Given the description of an element on the screen output the (x, y) to click on. 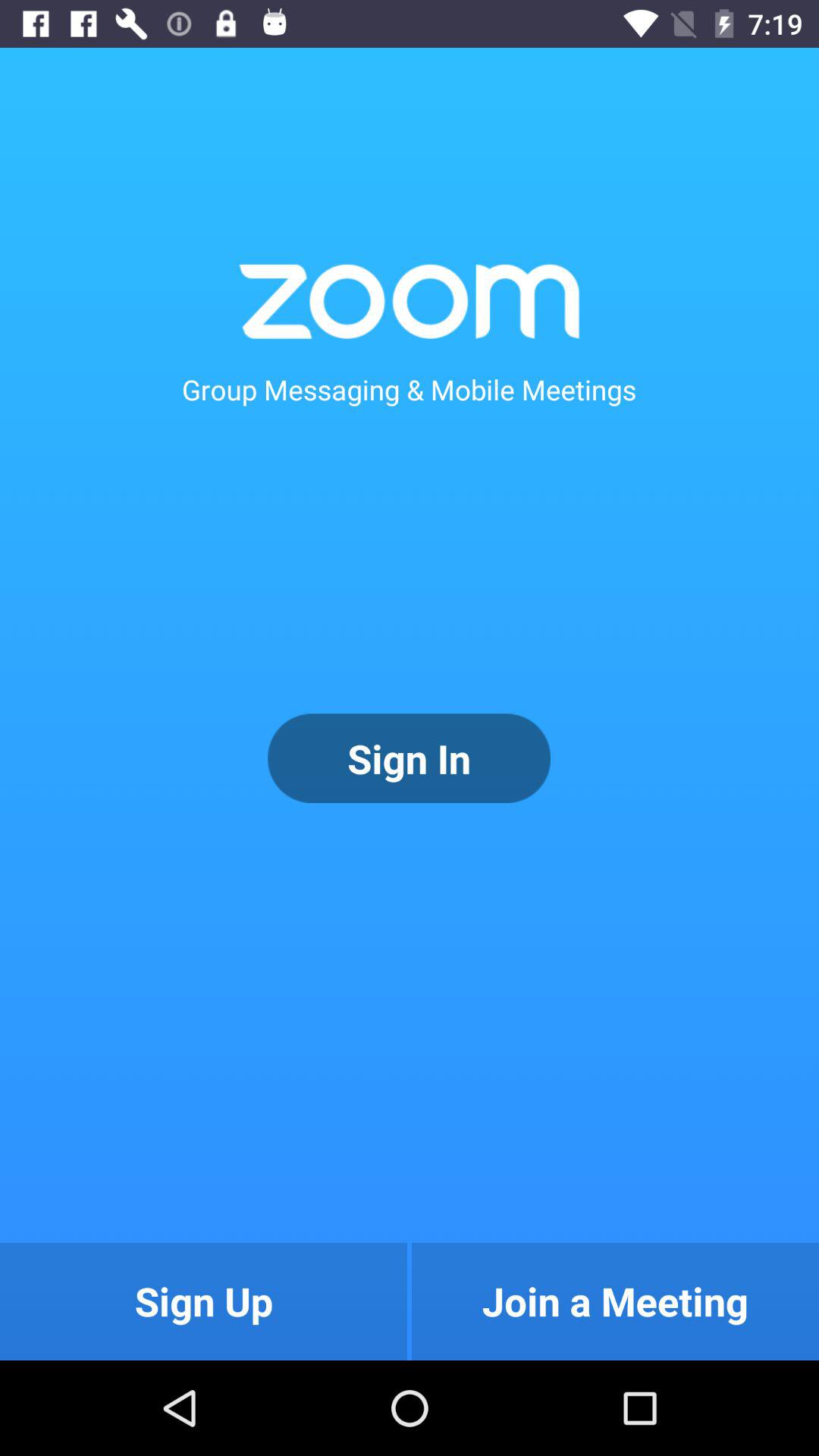
launch button next to join a meeting item (203, 1301)
